Given the description of an element on the screen output the (x, y) to click on. 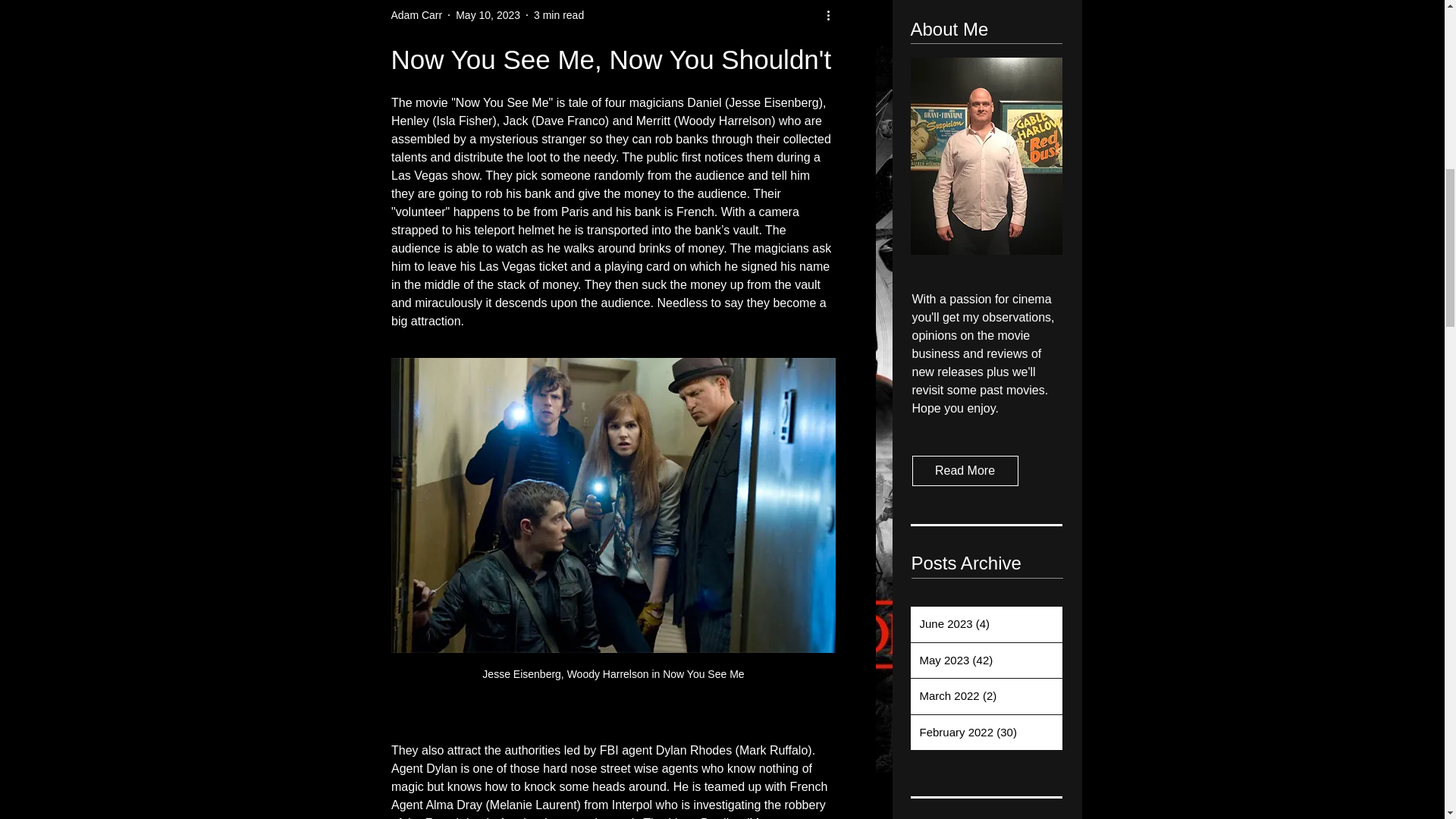
Adam Carr (416, 15)
Read More (964, 470)
May 10, 2023 (487, 15)
3 min read (558, 15)
